Given the description of an element on the screen output the (x, y) to click on. 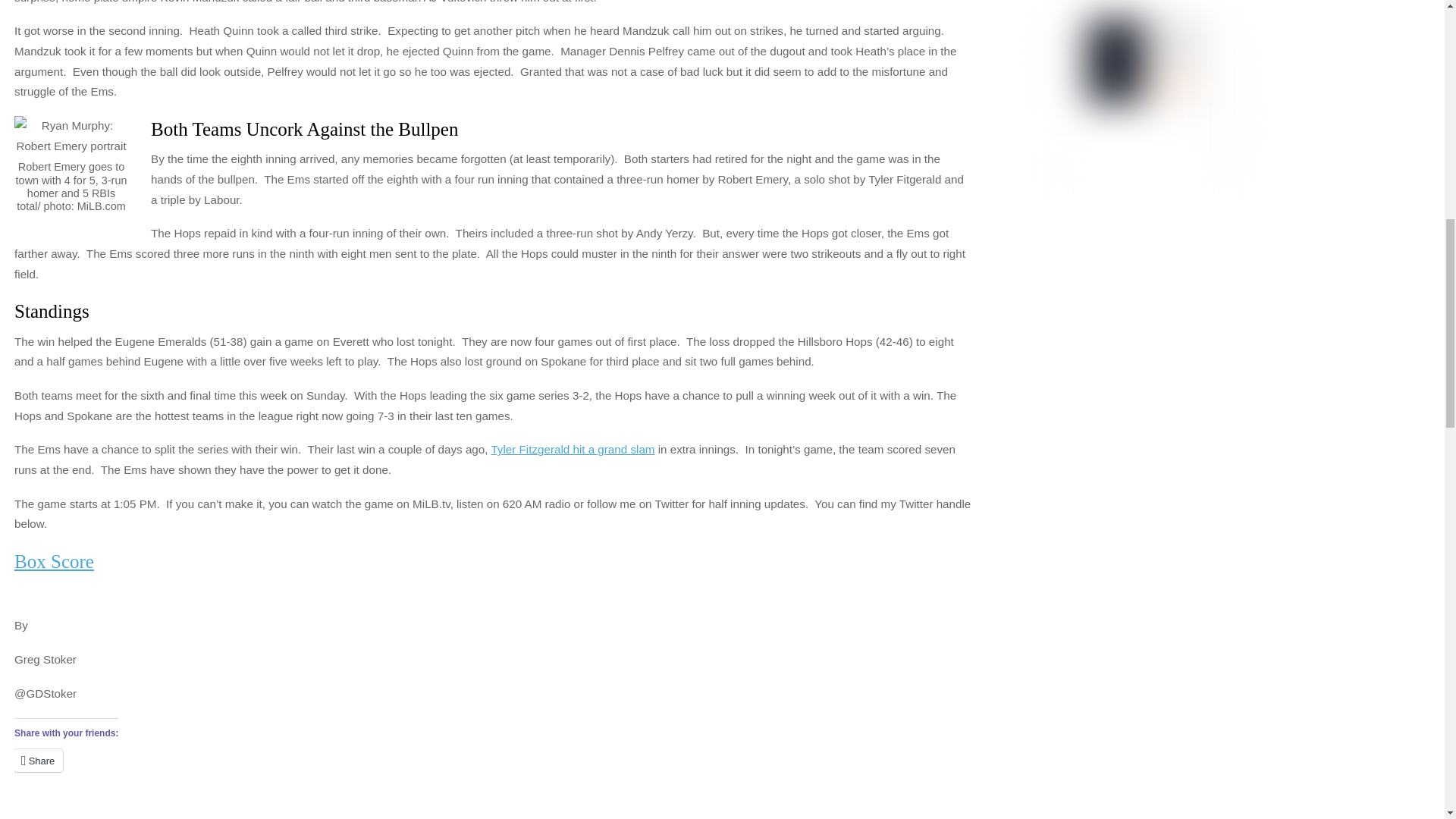
Box Score (54, 561)
Tyler Fitzgerald hit a grand slam (571, 449)
Share (38, 760)
